Given the description of an element on the screen output the (x, y) to click on. 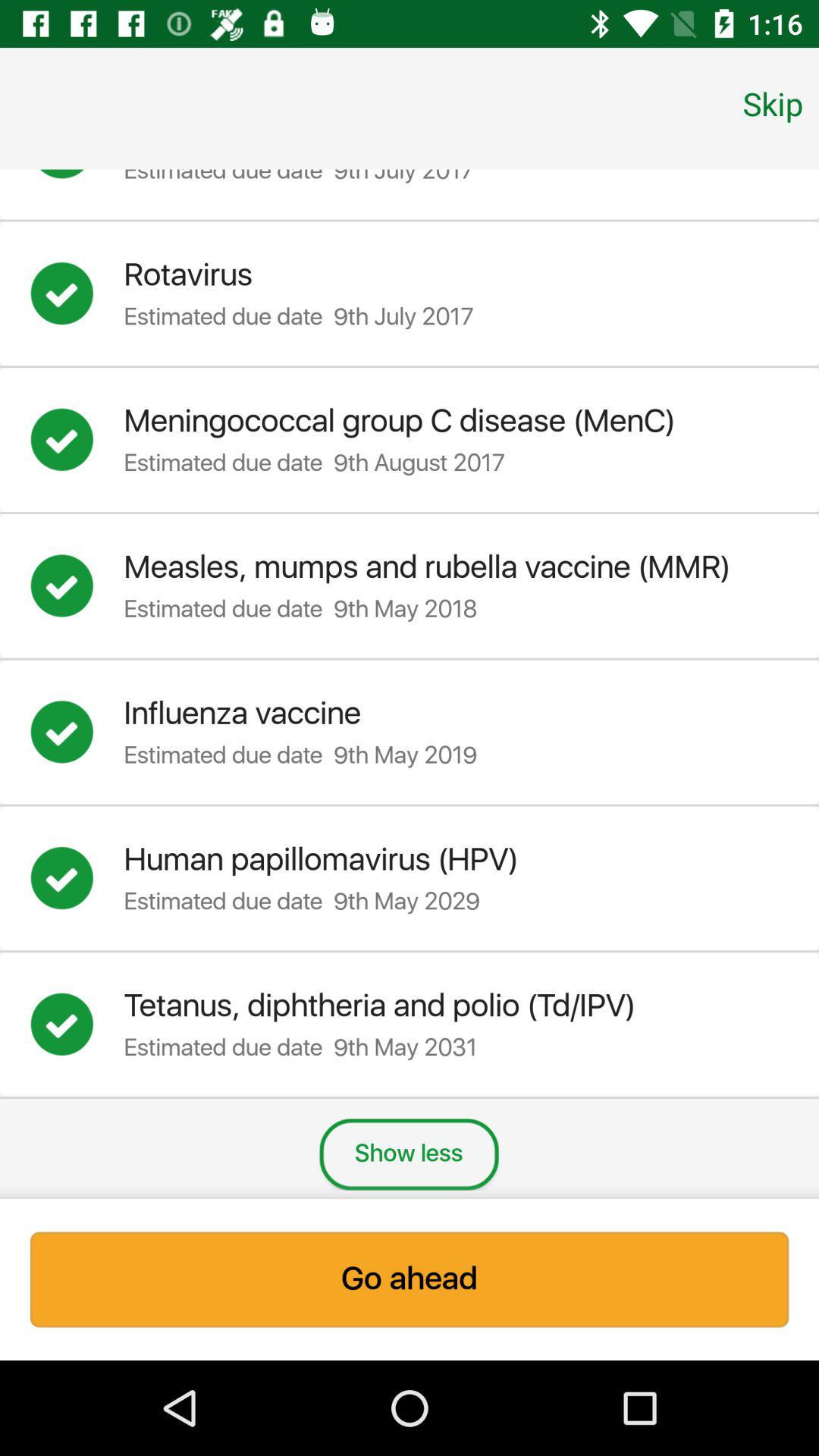
jump to skip icon (772, 103)
